Given the description of an element on the screen output the (x, y) to click on. 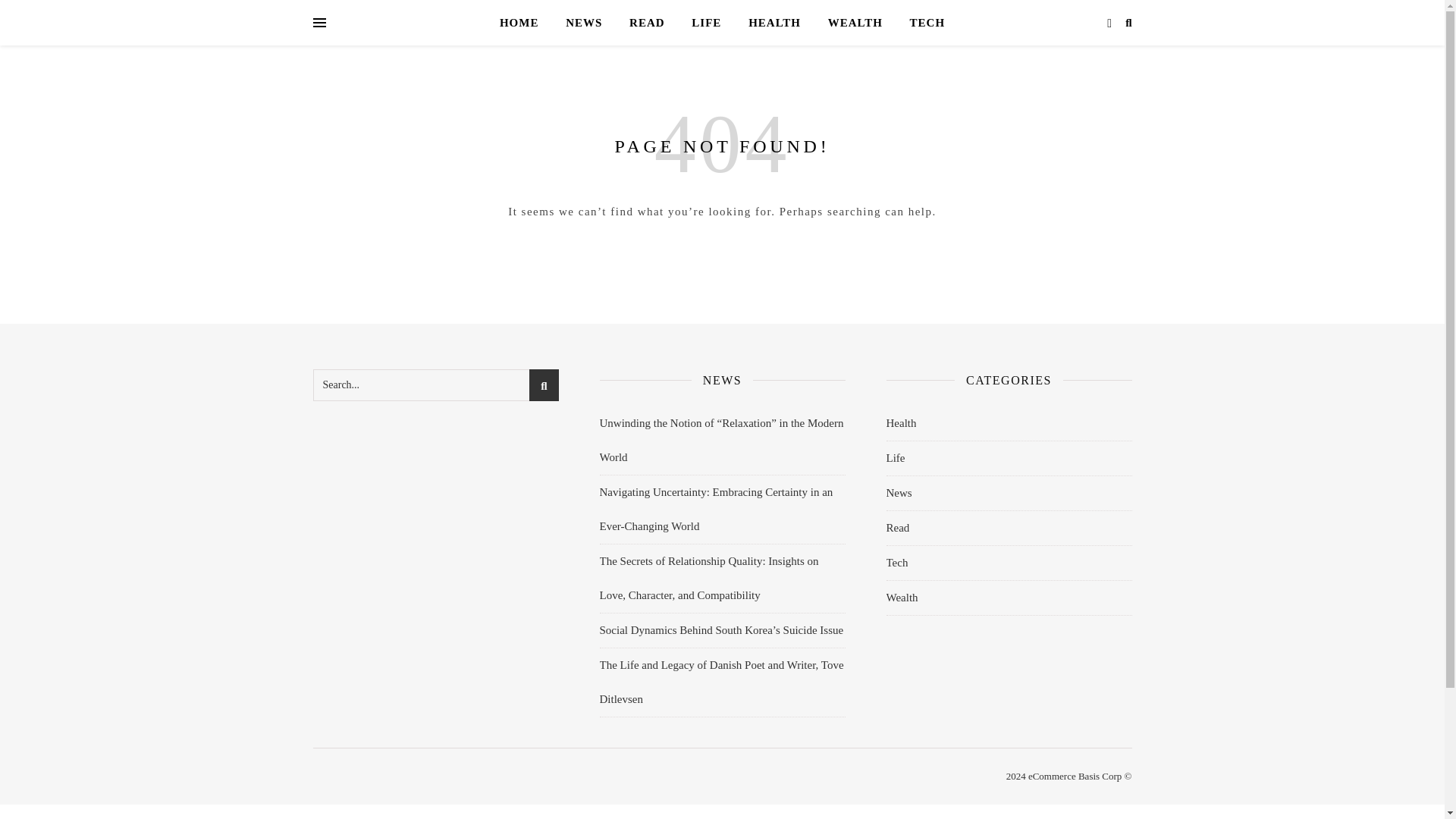
READ (647, 22)
Wealth (901, 597)
NEWS (583, 22)
LIFE (706, 22)
HEALTH (774, 22)
Health (900, 423)
WEALTH (855, 22)
